Given the description of an element on the screen output the (x, y) to click on. 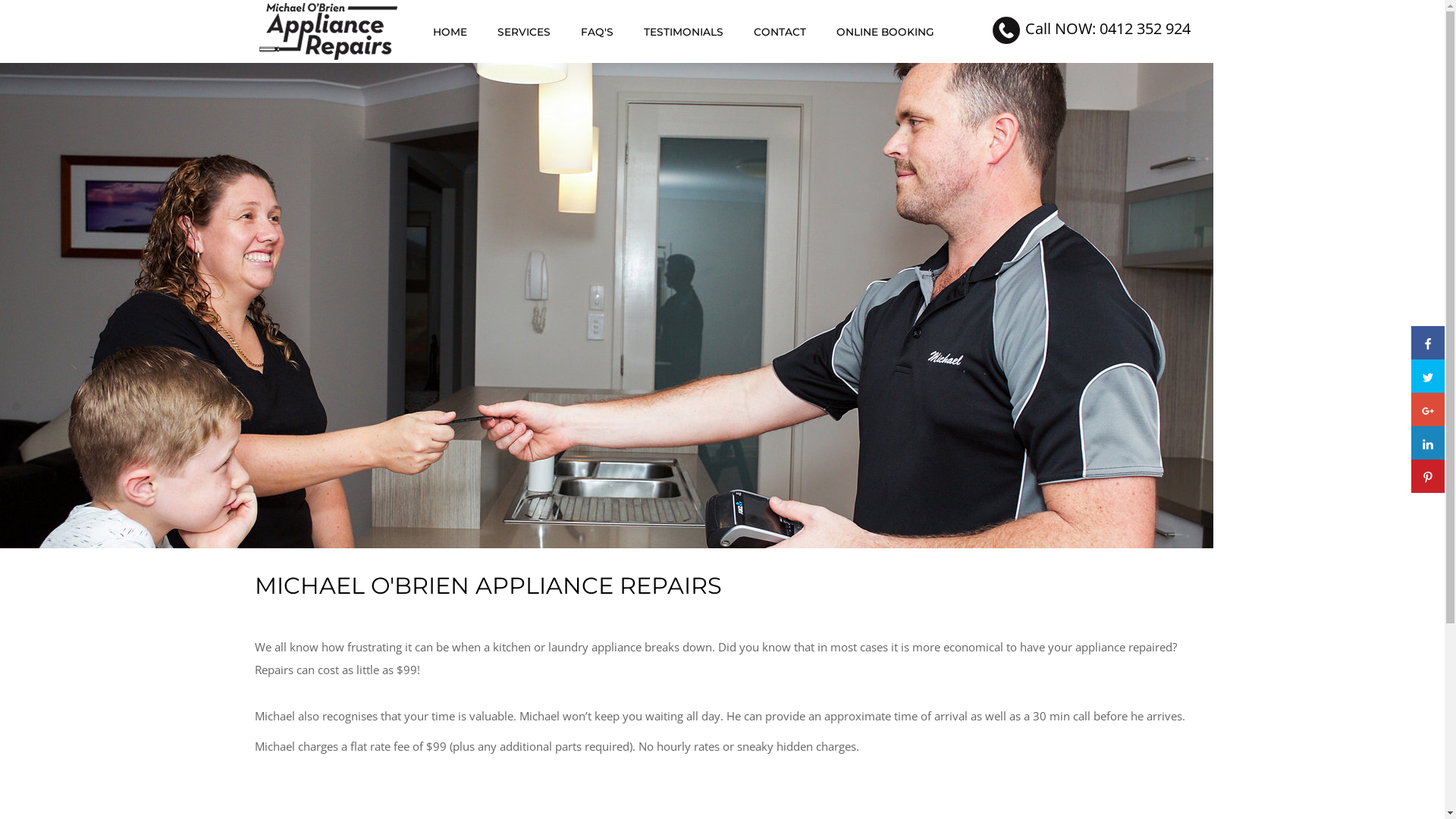
Call NOW: 0412 352 924 Element type: text (1107, 28)
ONLINE BOOKING Element type: text (884, 31)
FAQ'S Element type: text (596, 31)
SERVICES Element type: text (523, 31)
SERVICES Element type: text (523, 31)
HOME Element type: text (449, 31)
FAQ'S Element type: text (596, 31)
ONLINE BOOKING Element type: text (884, 31)
CONTACT Element type: text (779, 31)
TESTIMONIALS Element type: text (682, 31)
HOME Element type: text (449, 31)
CONTACT Element type: text (779, 31)
TESTIMONIALS Element type: text (682, 31)
